Given the description of an element on the screen output the (x, y) to click on. 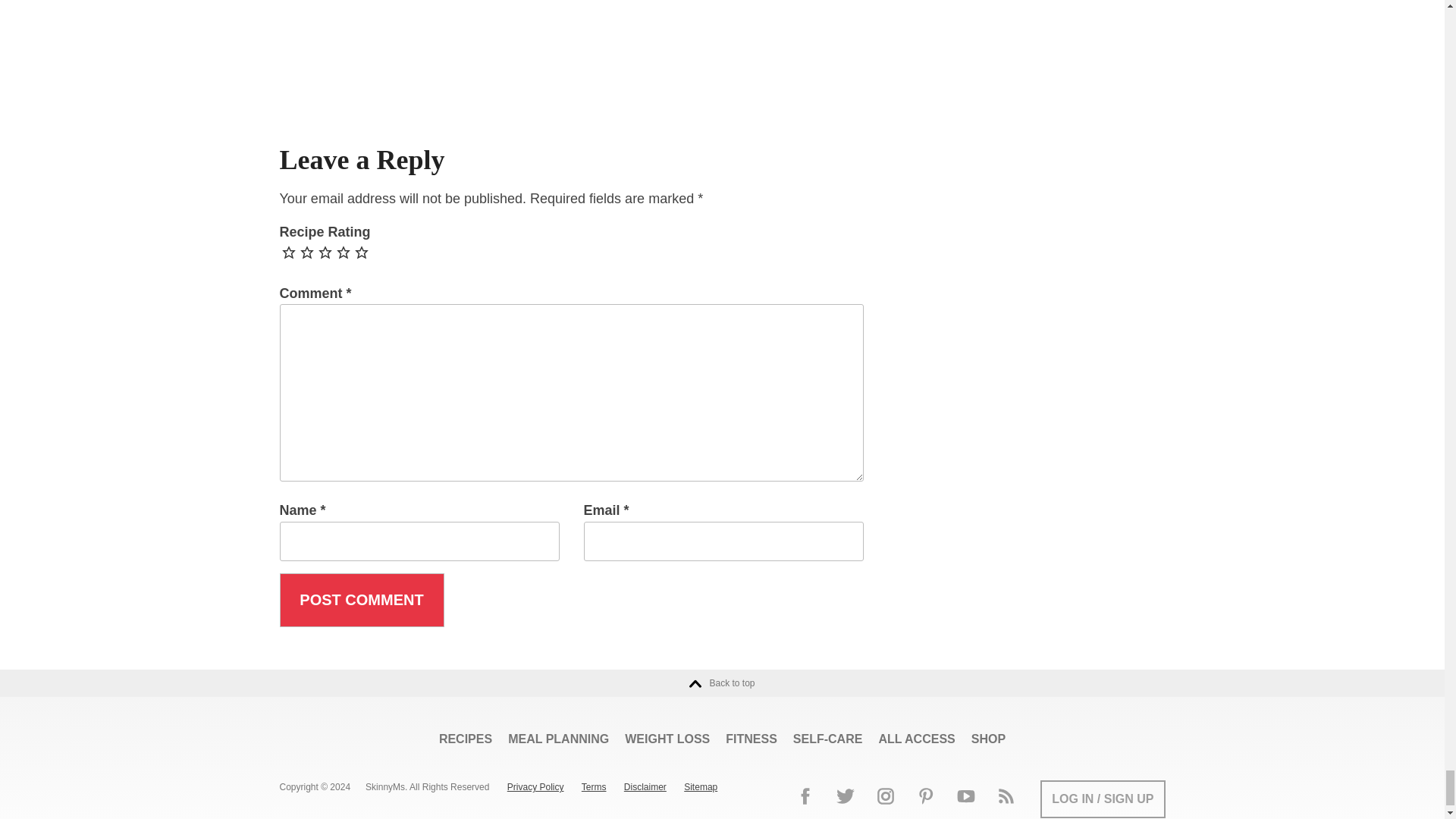
Post Comment (361, 600)
